Given the description of an element on the screen output the (x, y) to click on. 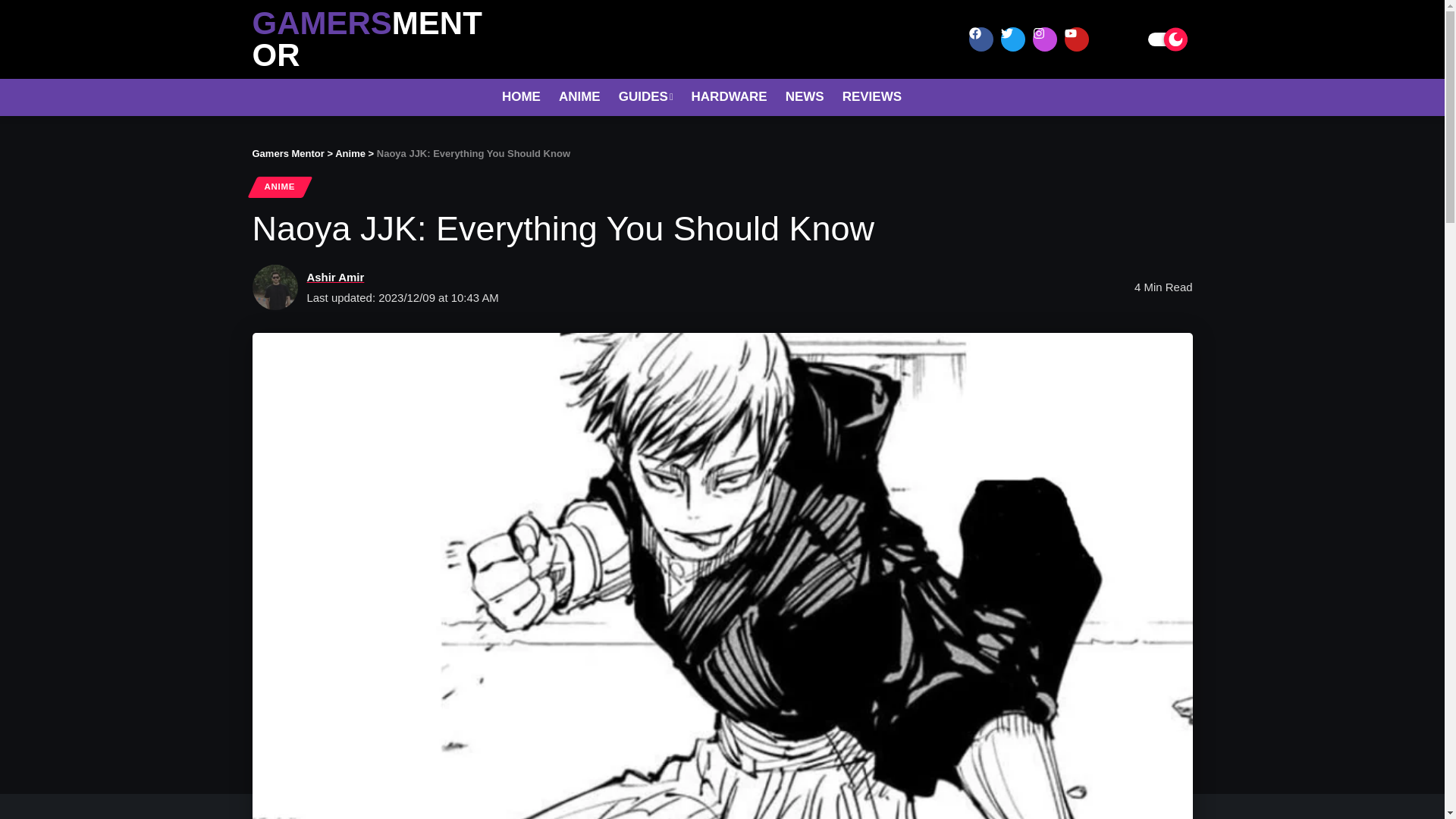
ANIME (279, 186)
ANIME (580, 97)
Anime (349, 153)
HOME (521, 97)
Go to the Anime Category archives. (349, 153)
Go to Gamers Mentor. (287, 153)
NEWS (804, 97)
REVIEWS (871, 97)
HARDWARE (729, 97)
Gamers Mentor (287, 153)
